Given the description of an element on the screen output the (x, y) to click on. 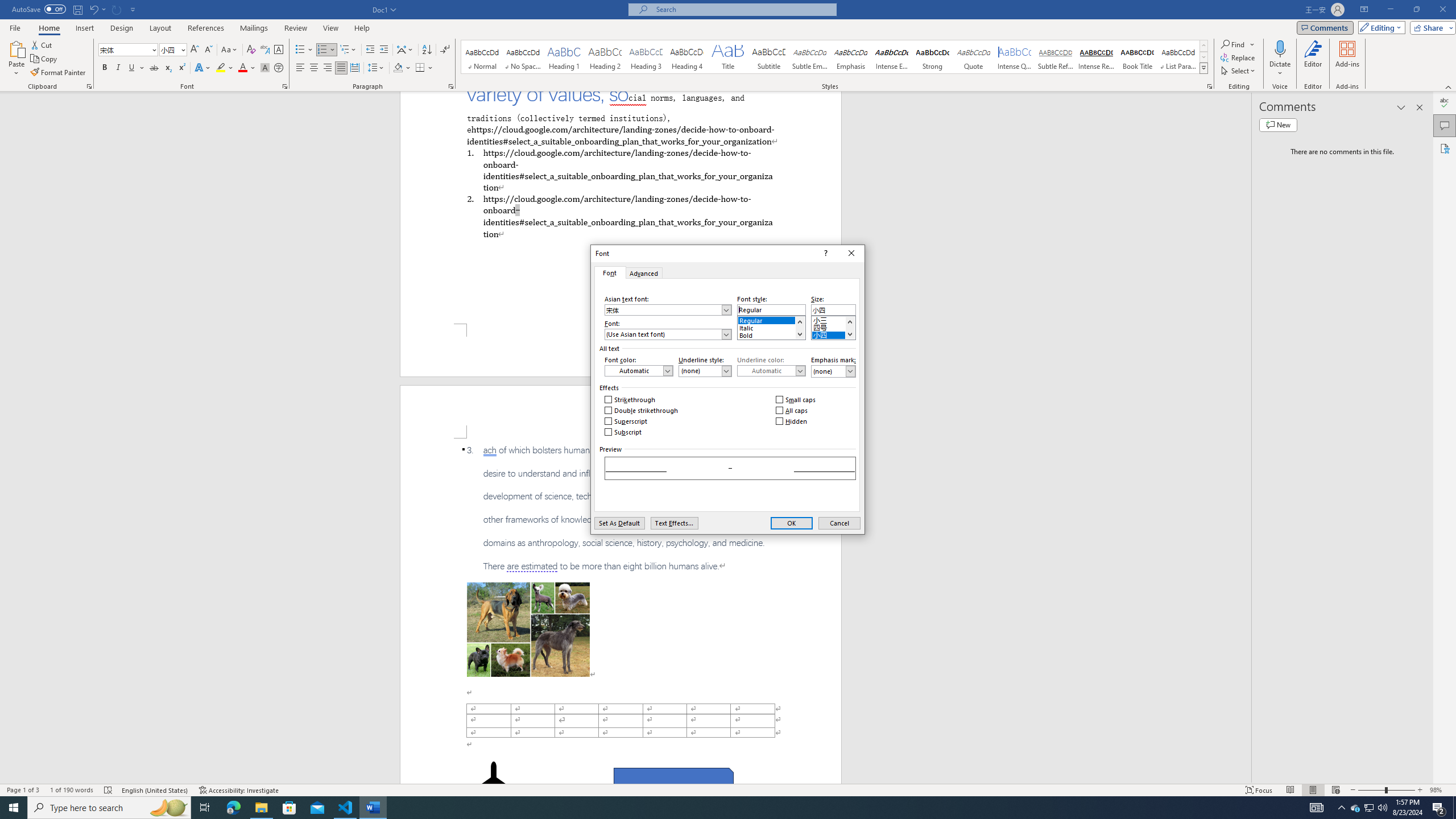
Share (1430, 27)
Notification Chevron (1341, 807)
Underline style: (705, 370)
Intense Reference (1095, 56)
Superscript (626, 420)
Show desktop (1454, 807)
Subtle Emphasis (809, 56)
Font style: (771, 309)
Subtitle (768, 56)
Replace... (1237, 56)
Layout (160, 28)
RichEdit Control (833, 309)
Morphological variation in six dogs (528, 629)
